Given the description of an element on the screen output the (x, y) to click on. 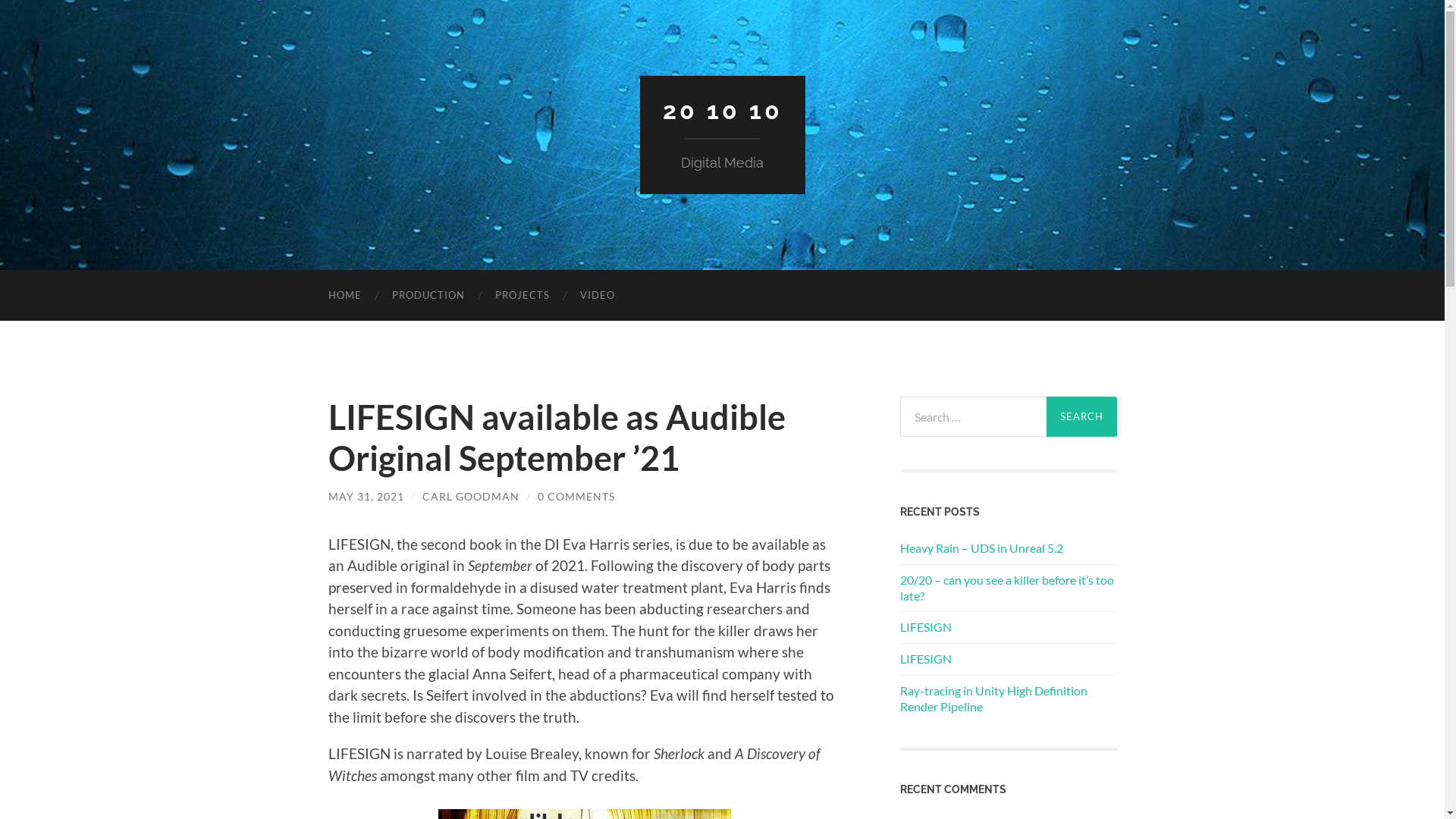
PROJECTS Element type: text (521, 294)
VIDEO Element type: text (596, 294)
HOME Element type: text (344, 294)
CARL GOODMAN Element type: text (469, 495)
MAY 31, 2021 Element type: text (365, 495)
Search Element type: text (1081, 416)
LIFESIGN Element type: text (1007, 659)
0 COMMENTS Element type: text (575, 495)
PRODUCTION Element type: text (427, 294)
Ray-tracing in Unity High Definition Render Pipeline Element type: text (1007, 699)
20 10 10 Element type: text (722, 110)
LIFESIGN Element type: text (1007, 627)
